Given the description of an element on the screen output the (x, y) to click on. 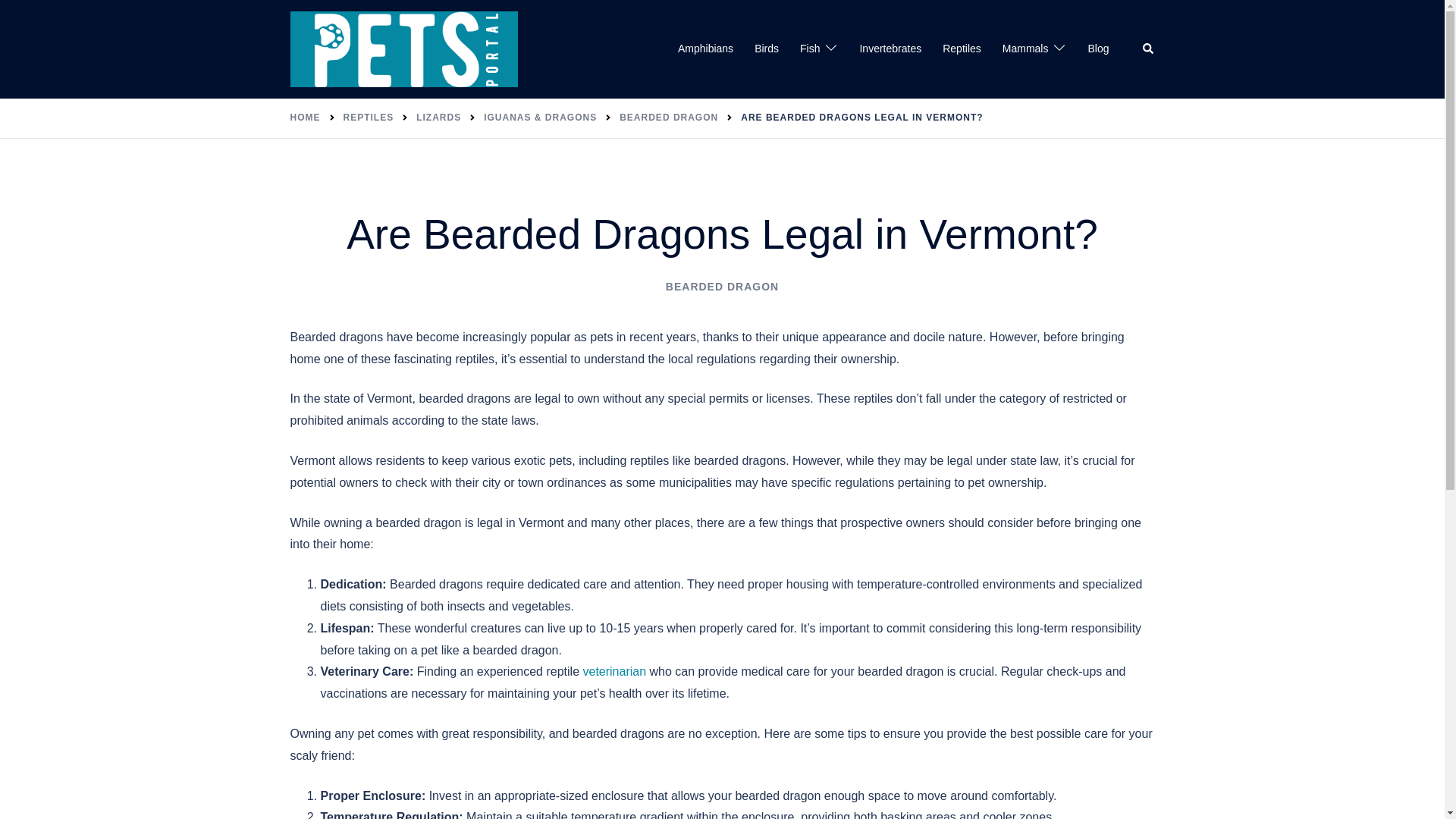
veterinarian (614, 671)
Amphibians (705, 48)
Mammals (1025, 48)
Blog (1097, 48)
Birds (766, 48)
Reptiles (961, 48)
ThePetsPortal.com (402, 47)
Search (1147, 49)
Fish (809, 48)
Invertebrates (890, 48)
